Given the description of an element on the screen output the (x, y) to click on. 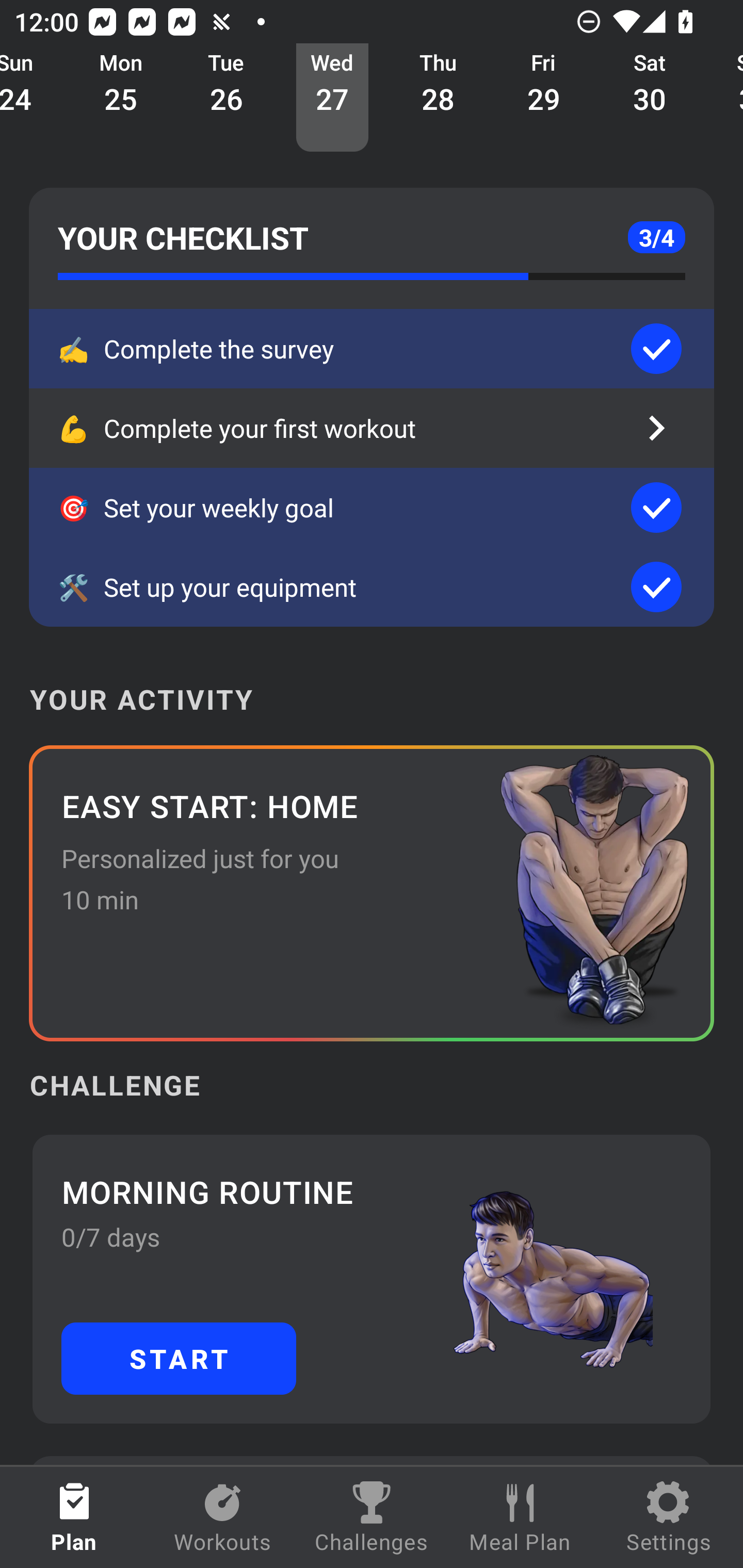
Sun 24 (34, 97)
Mon 25 (120, 97)
Tue 26 (226, 97)
Wed 27 (332, 97)
Thu 28 (438, 97)
Fri 29 (543, 97)
Sat 30 (649, 97)
💪 Complete your first workout (371, 427)
EASY START: HOME Personalized just for you 10 min (371, 892)
MORNING ROUTINE 0/7 days START (371, 1278)
START (178, 1357)
 Workouts  (222, 1517)
 Challenges  (371, 1517)
 Meal Plan  (519, 1517)
 Settings  (668, 1517)
